Given the description of an element on the screen output the (x, y) to click on. 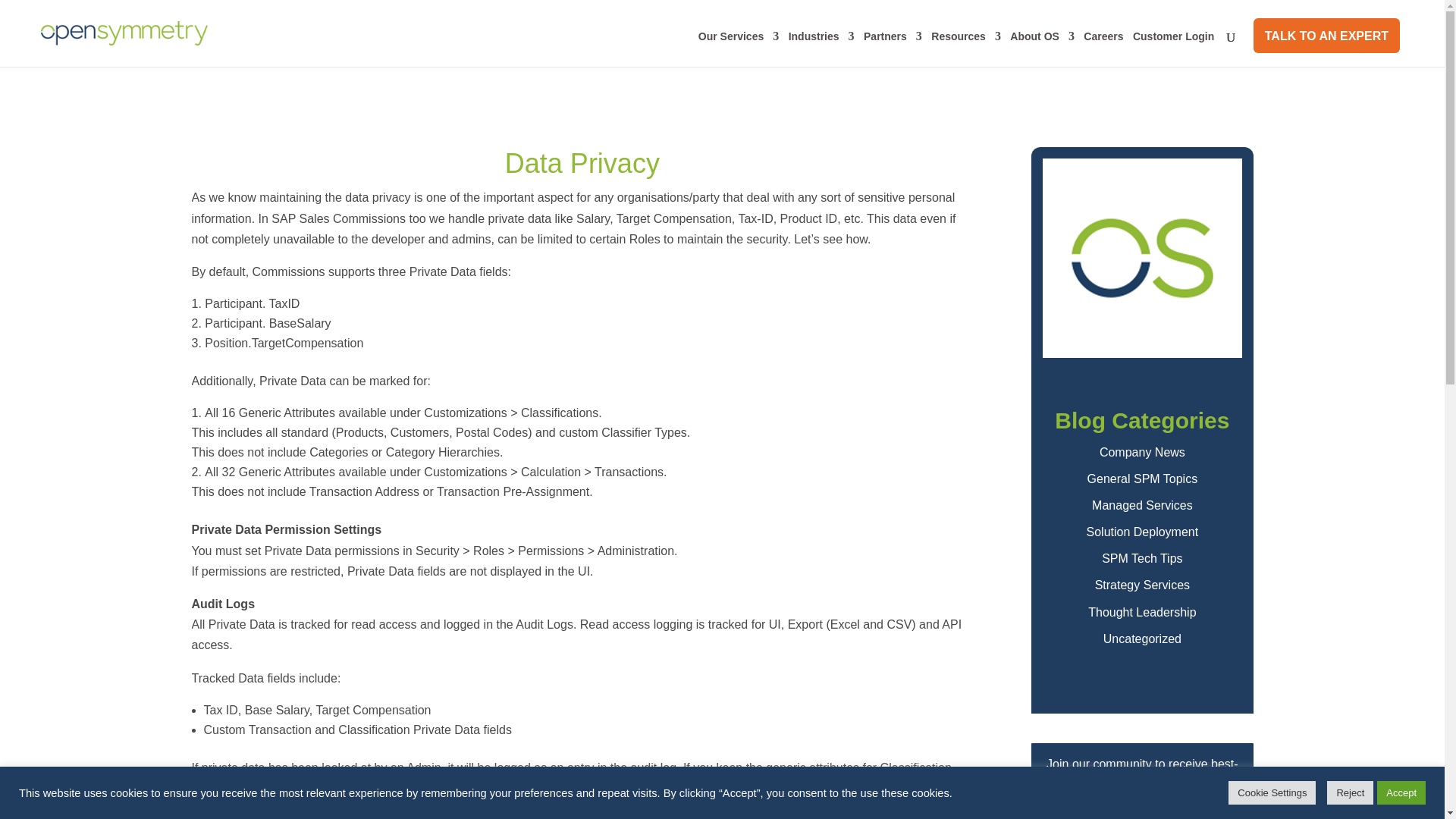
About OS (1042, 48)
icon (1141, 257)
Industries (821, 48)
Our Services (738, 48)
Resources (966, 48)
Partners (892, 48)
Careers (1102, 48)
